Given the description of an element on the screen output the (x, y) to click on. 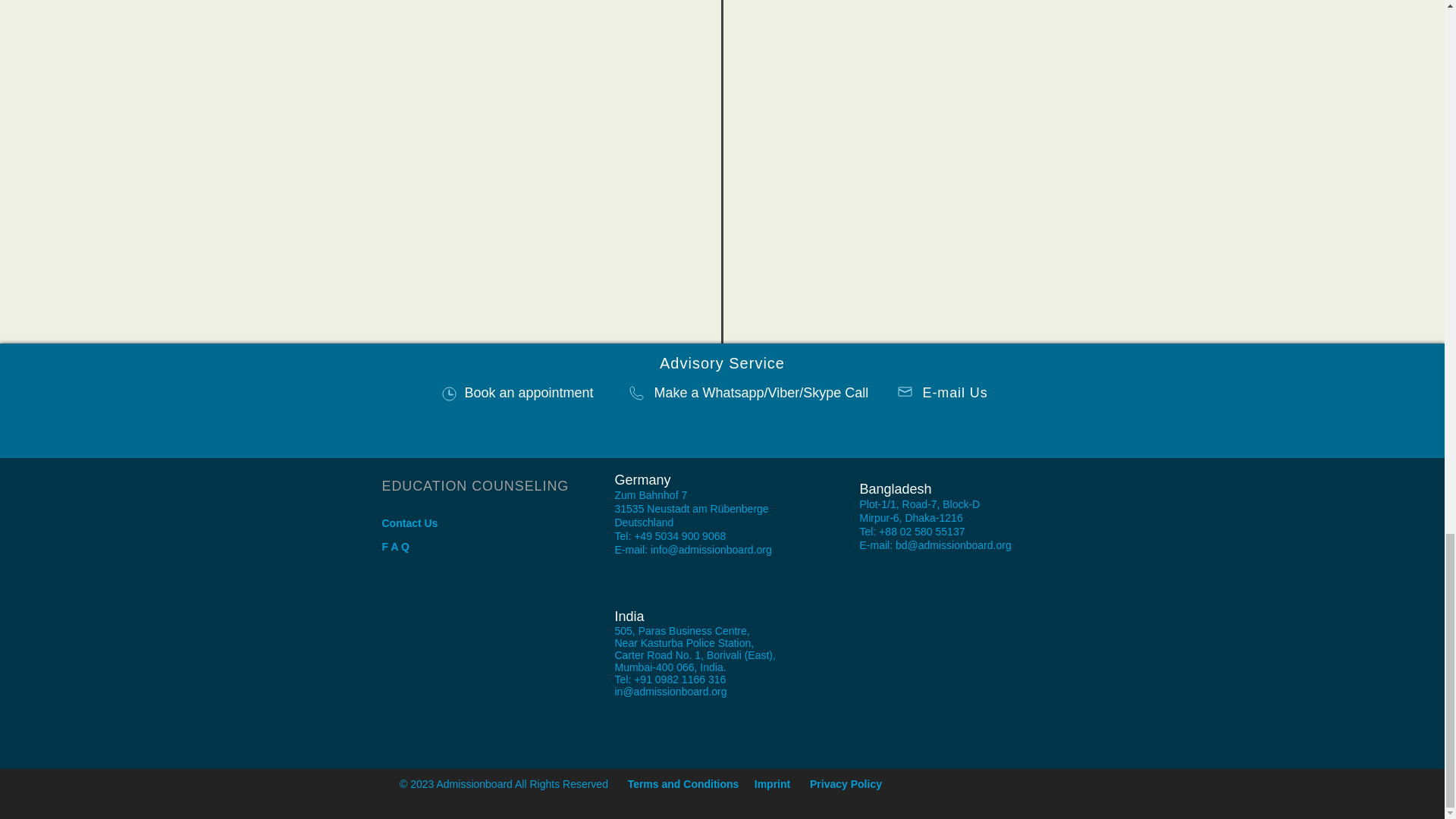
Privacy Policy (845, 784)
Contact Us (409, 522)
Terms and Conditions (683, 784)
E-mail Us (954, 392)
F A Q (395, 546)
Book an appointment (528, 392)
Imprint (772, 784)
